Given the description of an element on the screen output the (x, y) to click on. 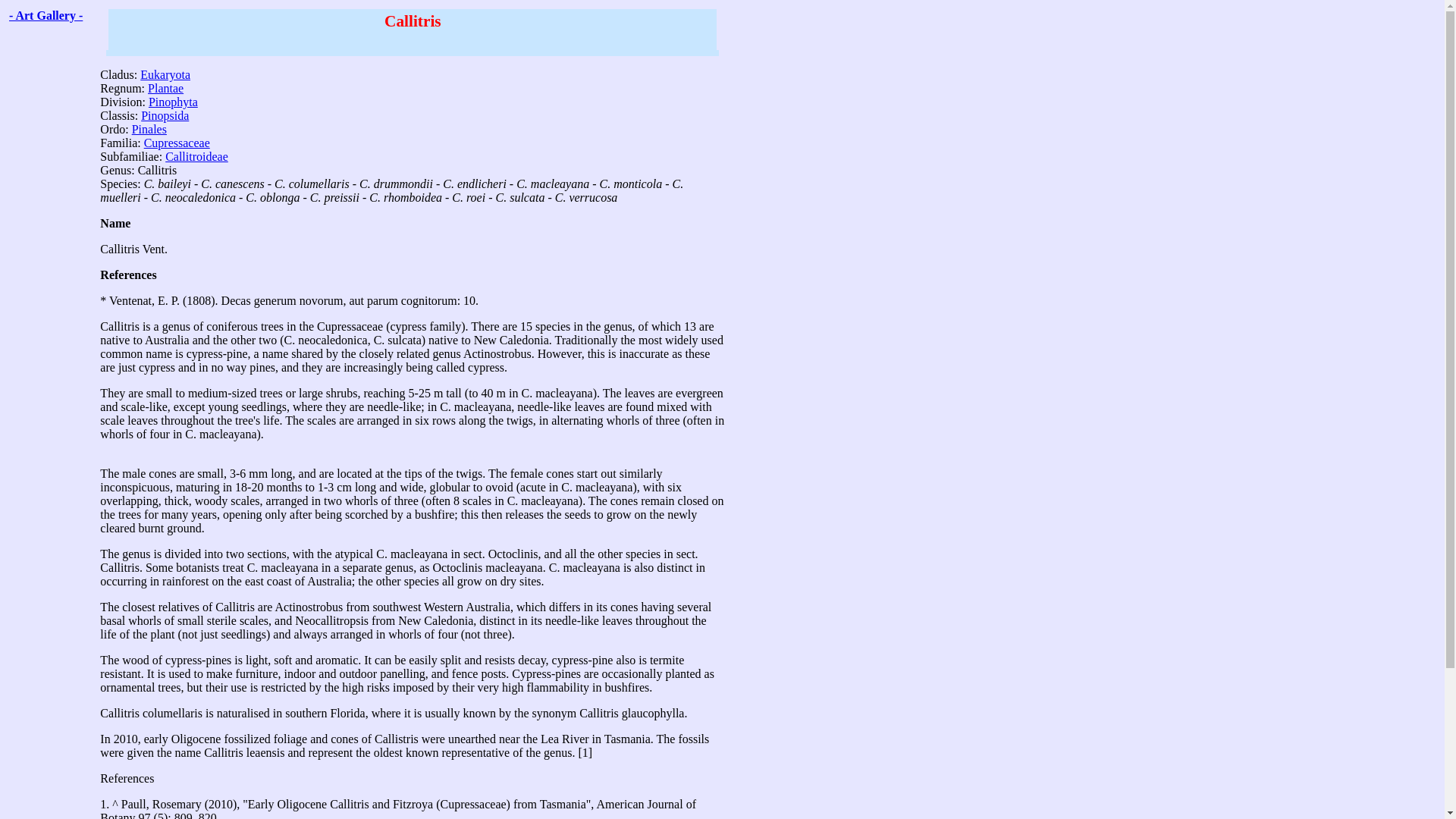
Pinophyta (173, 101)
Callitroideae (196, 155)
Pinopsida (165, 115)
Pinales (149, 128)
Eukaryota (164, 74)
- Art Gallery - (45, 15)
Plantae (165, 88)
Cupressaceae (176, 142)
